Given the description of an element on the screen output the (x, y) to click on. 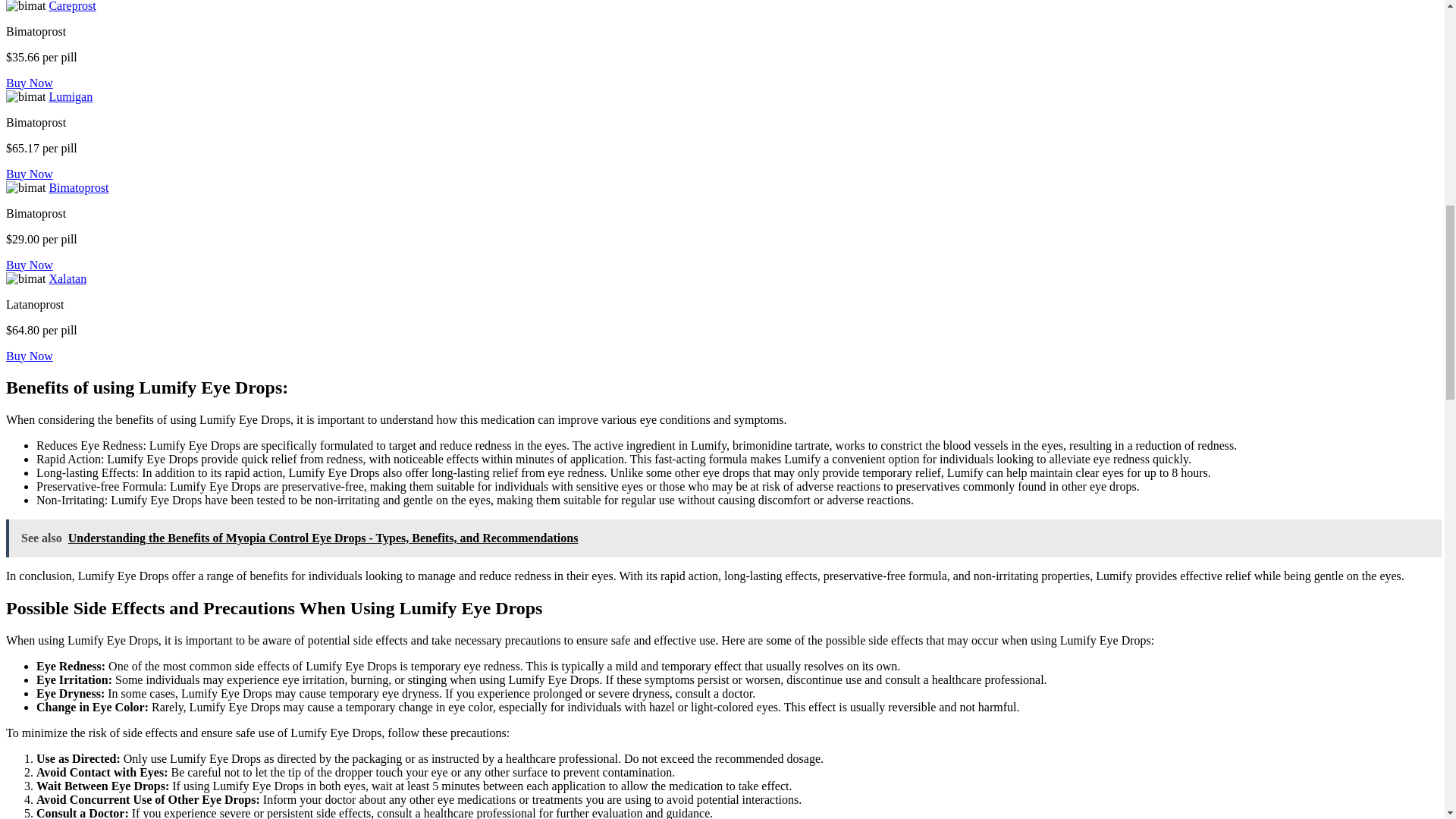
Buy Now (28, 82)
Xalatan (66, 278)
Buy Now (28, 173)
Buy Now (28, 264)
Bimatoprost (77, 187)
Careprost (72, 6)
Lumigan (70, 96)
Buy Now (28, 355)
